Given the description of an element on the screen output the (x, y) to click on. 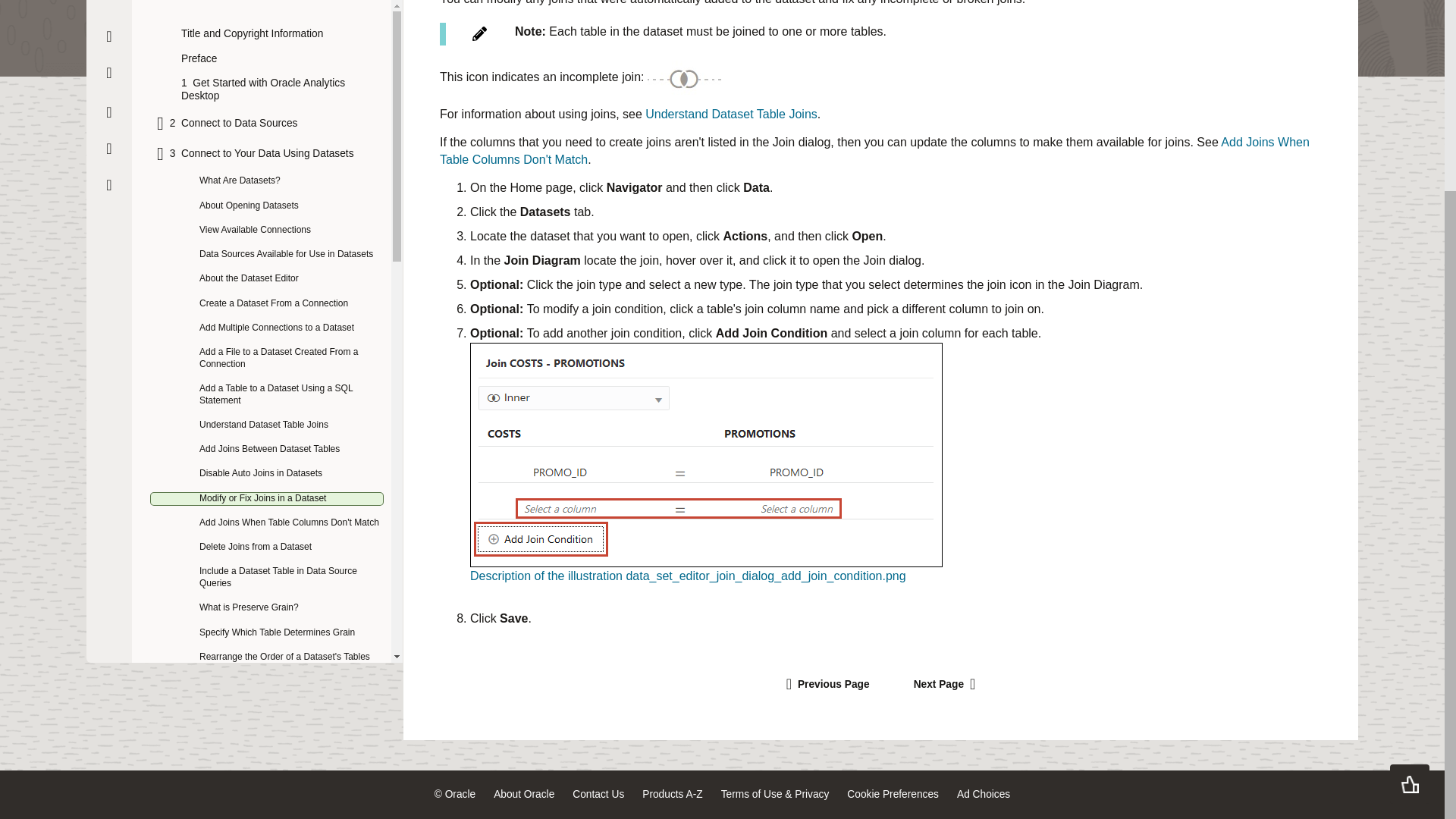
Share on Social Media (109, 91)
Download PDF (109, 54)
Table of Contents (109, 18)
Incomplete or Broken Join Icon (683, 77)
